Given the description of an element on the screen output the (x, y) to click on. 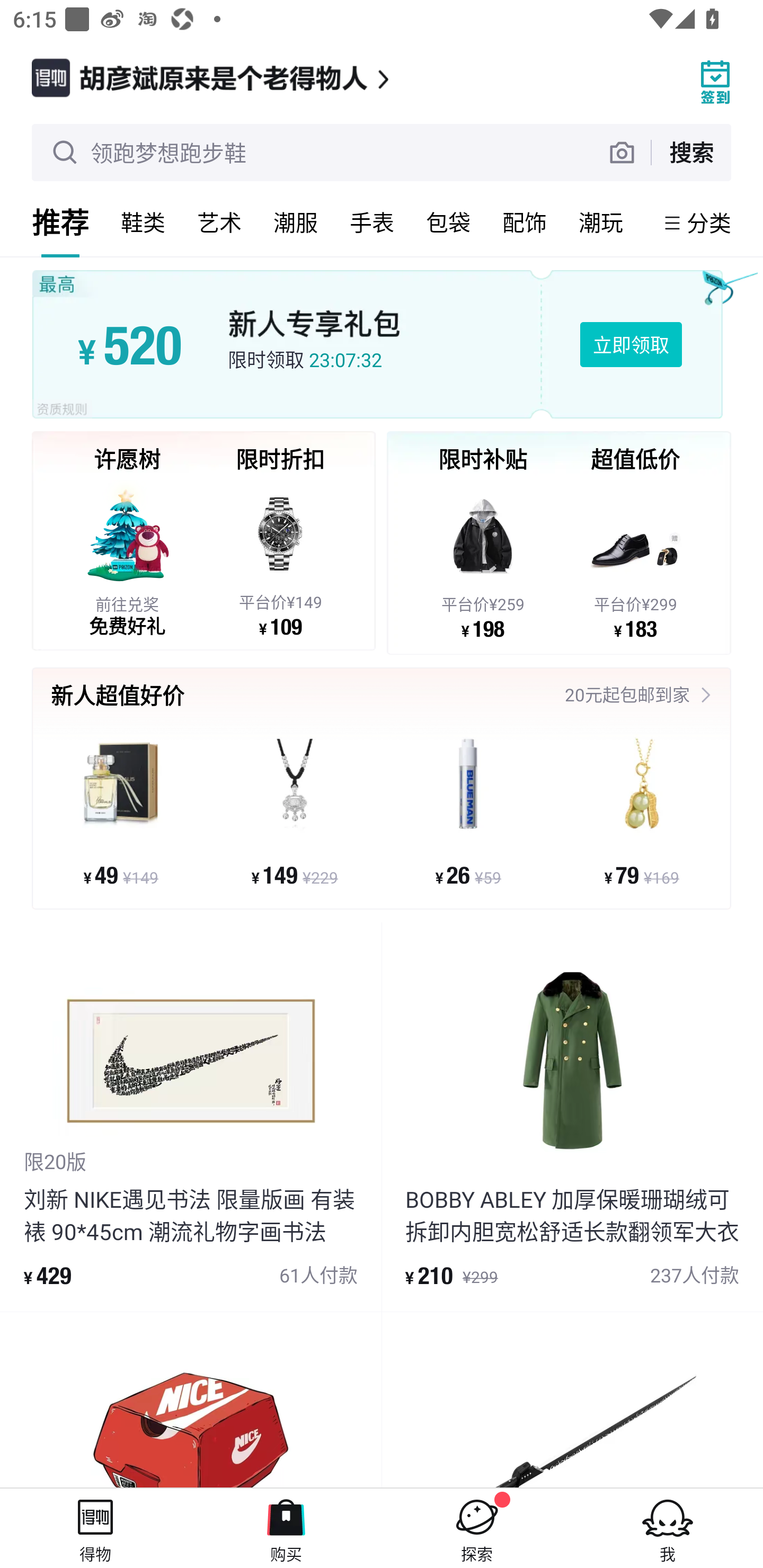
搜索 (690, 152)
推荐 (60, 222)
鞋类 (143, 222)
艺术 (219, 222)
潮服 (295, 222)
手表 (372, 222)
包袋 (448, 222)
配饰 (524, 222)
潮玩 (601, 222)
分类 (708, 222)
立即领取 (630, 343)
平台价¥149 ¥ 109 (279, 557)
前往兑奖 免费好礼 (127, 558)
平台价¥259 ¥ 198 (482, 559)
平台价¥299 ¥ 183 (635, 559)
¥ 49 ¥149 (121, 811)
¥ 149 ¥229 (294, 811)
¥ 26 ¥59 (468, 811)
¥ 79 ¥169 (641, 811)
product_item (190, 1400)
product_item (572, 1400)
得物 (95, 1528)
购买 (285, 1528)
探索 (476, 1528)
我 (667, 1528)
